Given the description of an element on the screen output the (x, y) to click on. 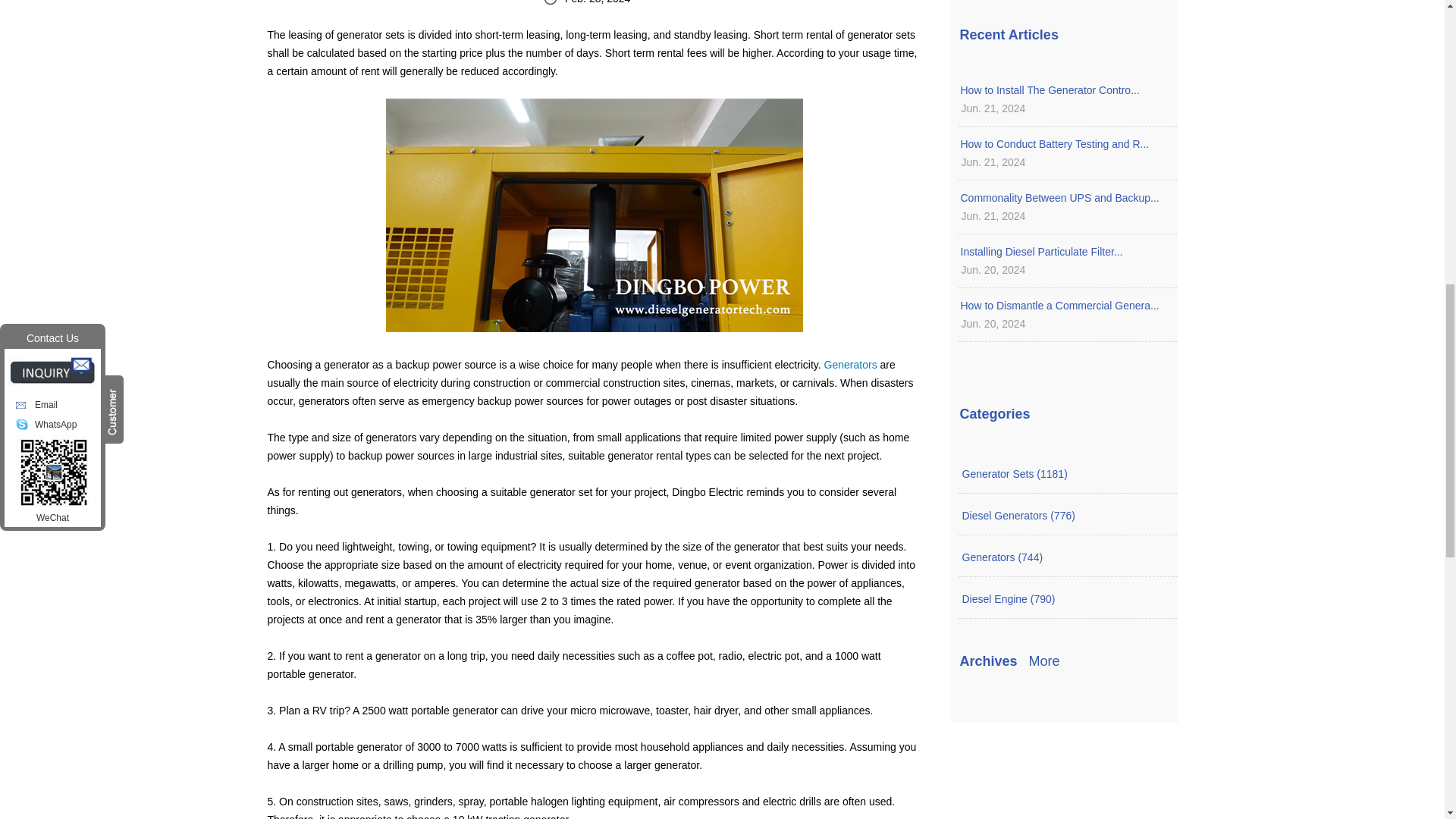
Installing Diesel Particulate Filters on Diesel Generators (1063, 251)
DINGBO POWER (850, 364)
How to Install The Generator Control Panel? (1063, 90)
Commonality Between UPS and Backup Generators (1063, 198)
power generating sets (594, 215)
